Given the description of an element on the screen output the (x, y) to click on. 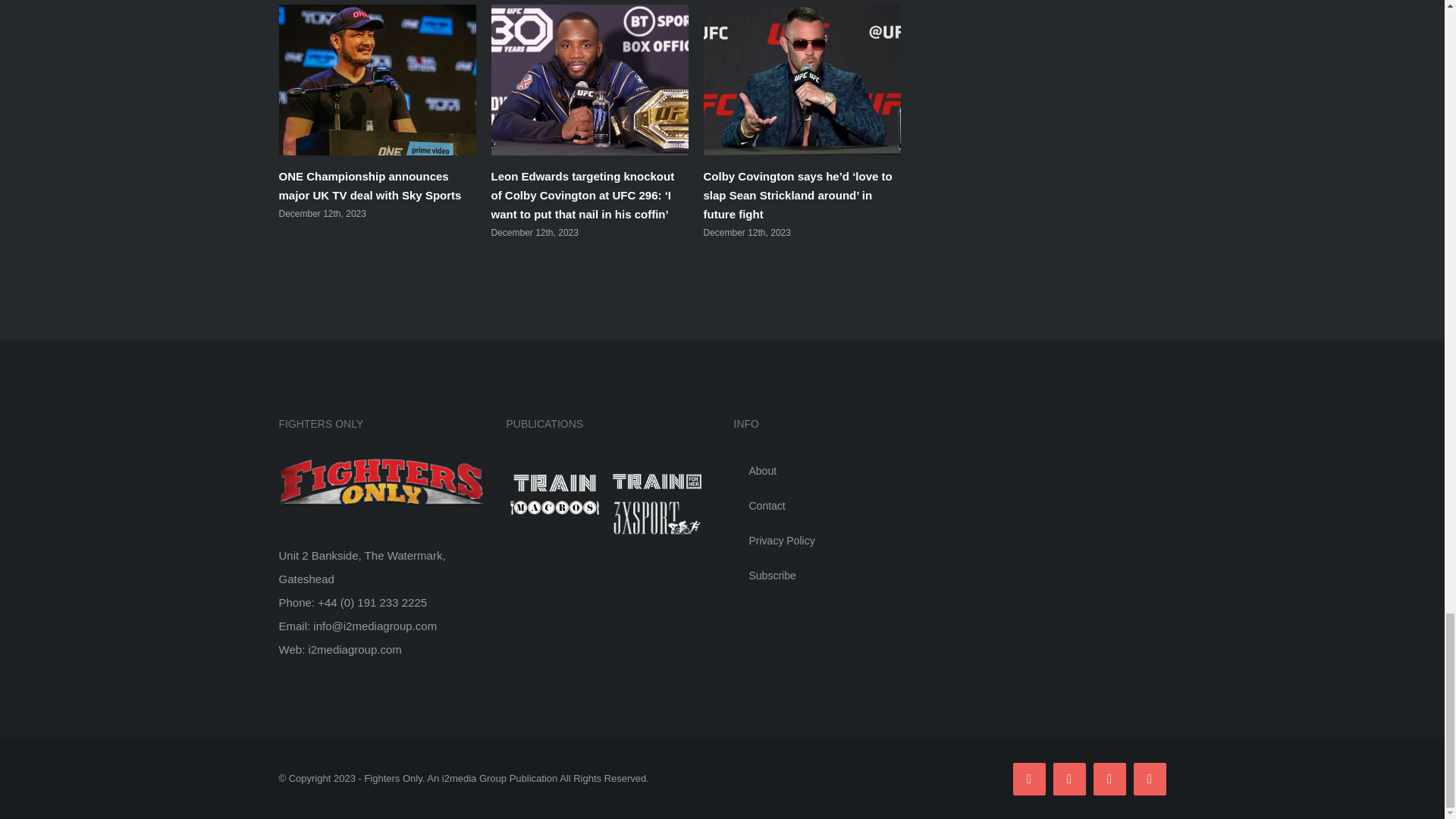
ONE Championship announces major UK TV deal with Sky Sports (370, 185)
ONE Championship announces major UK TV deal with Sky Sports (370, 185)
